Given the description of an element on the screen output the (x, y) to click on. 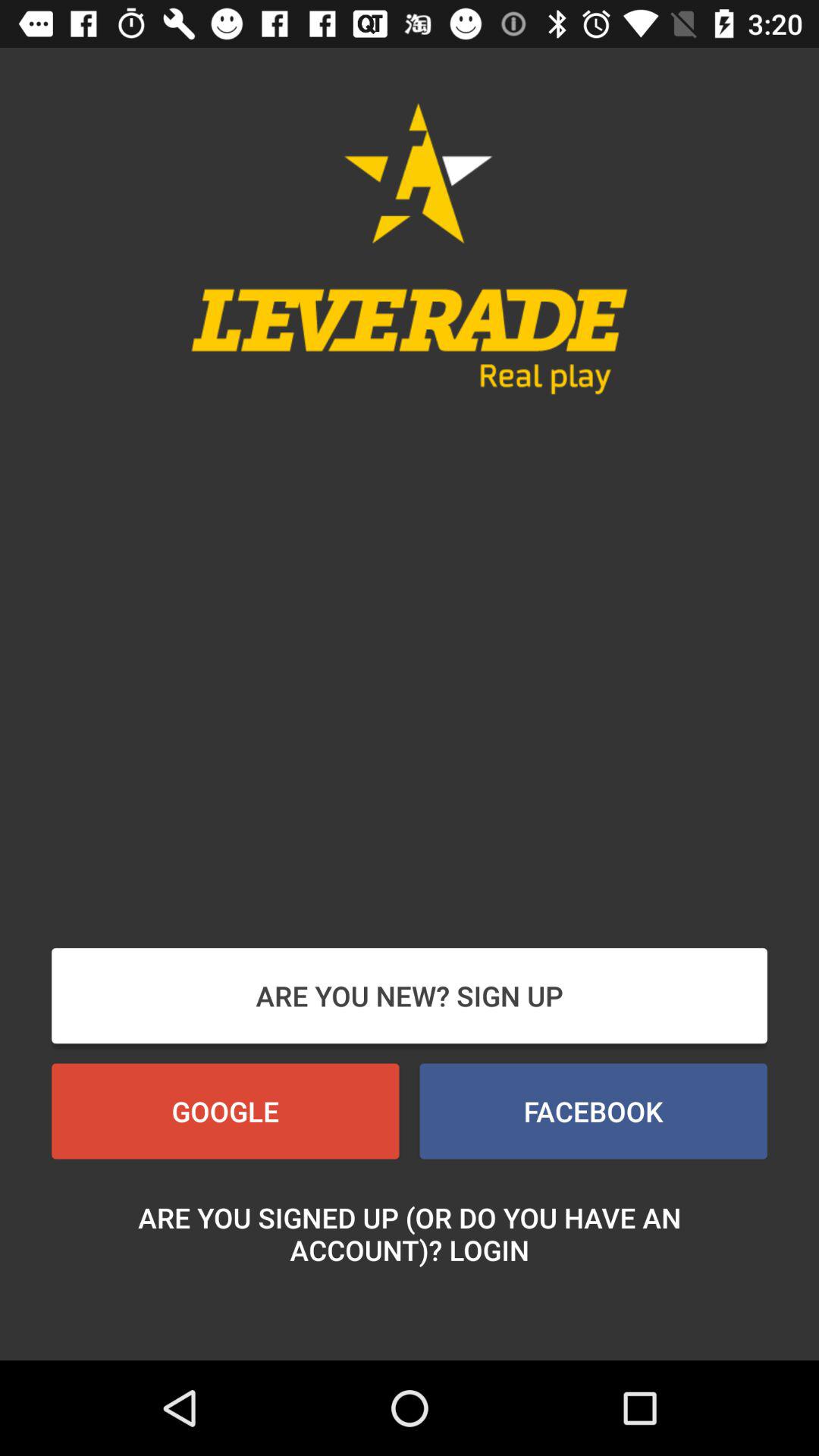
open the button below the are you new item (593, 1111)
